Given the description of an element on the screen output the (x, y) to click on. 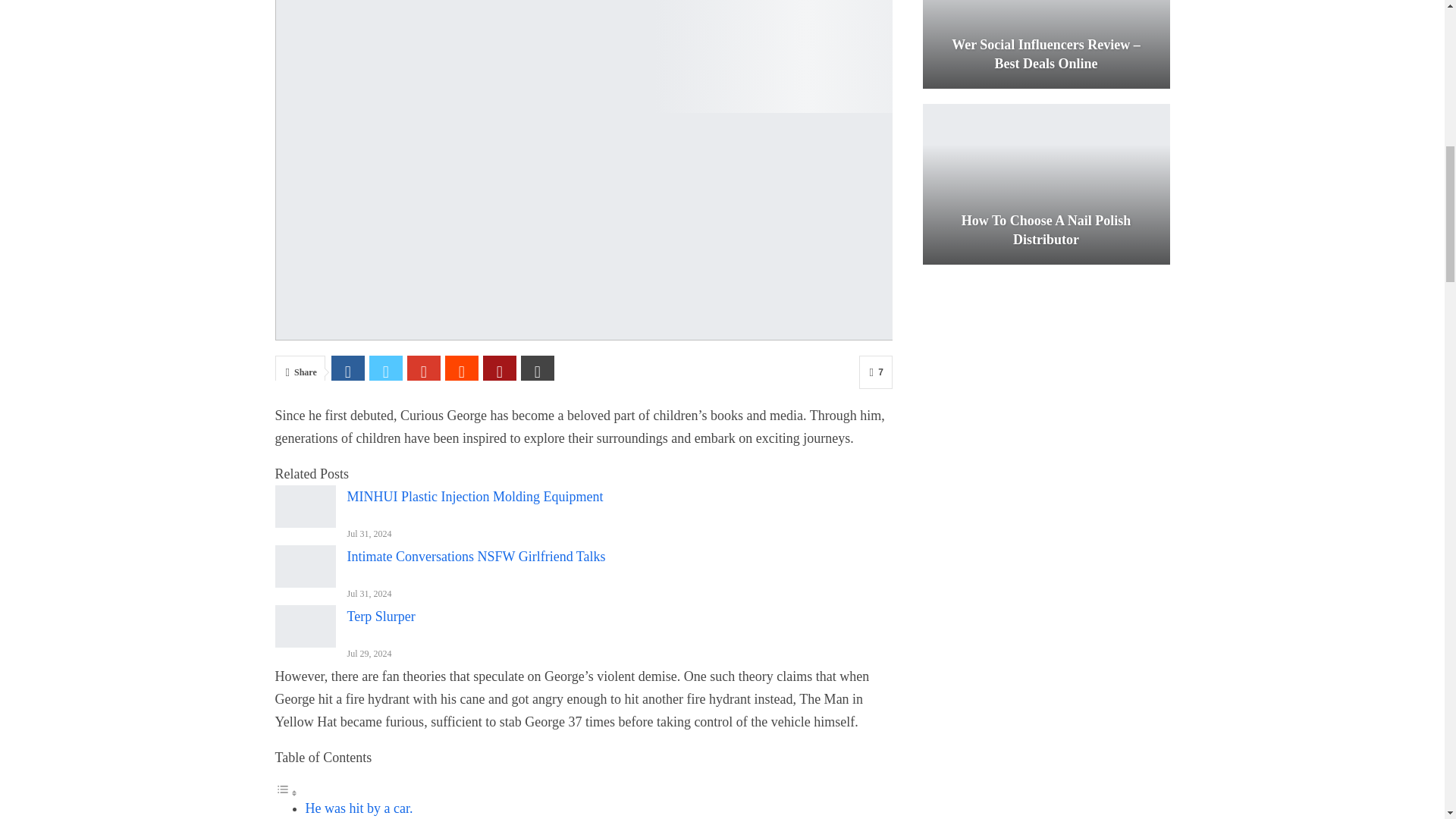
MINHUI Plastic Injection Molding Equipment (304, 506)
He was hit by a car. (358, 807)
Terp Slurper (304, 626)
Intimate Conversations NSFW Girlfriend Talks (304, 566)
